Given the description of an element on the screen output the (x, y) to click on. 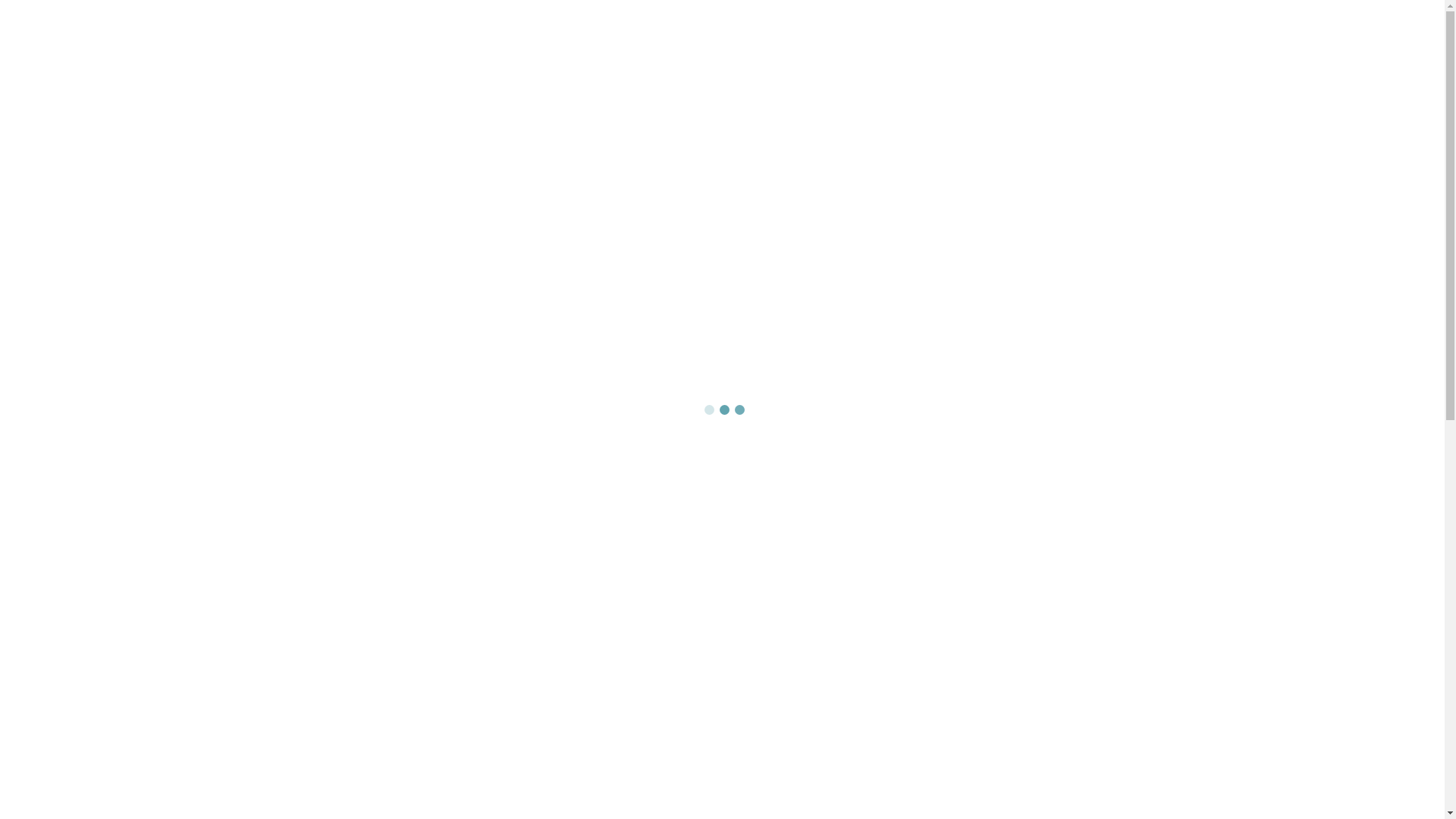
facebook Element type: text (818, 299)
Home Element type: text (743, 136)
Blog Element type: text (696, 136)
